Given the description of an element on the screen output the (x, y) to click on. 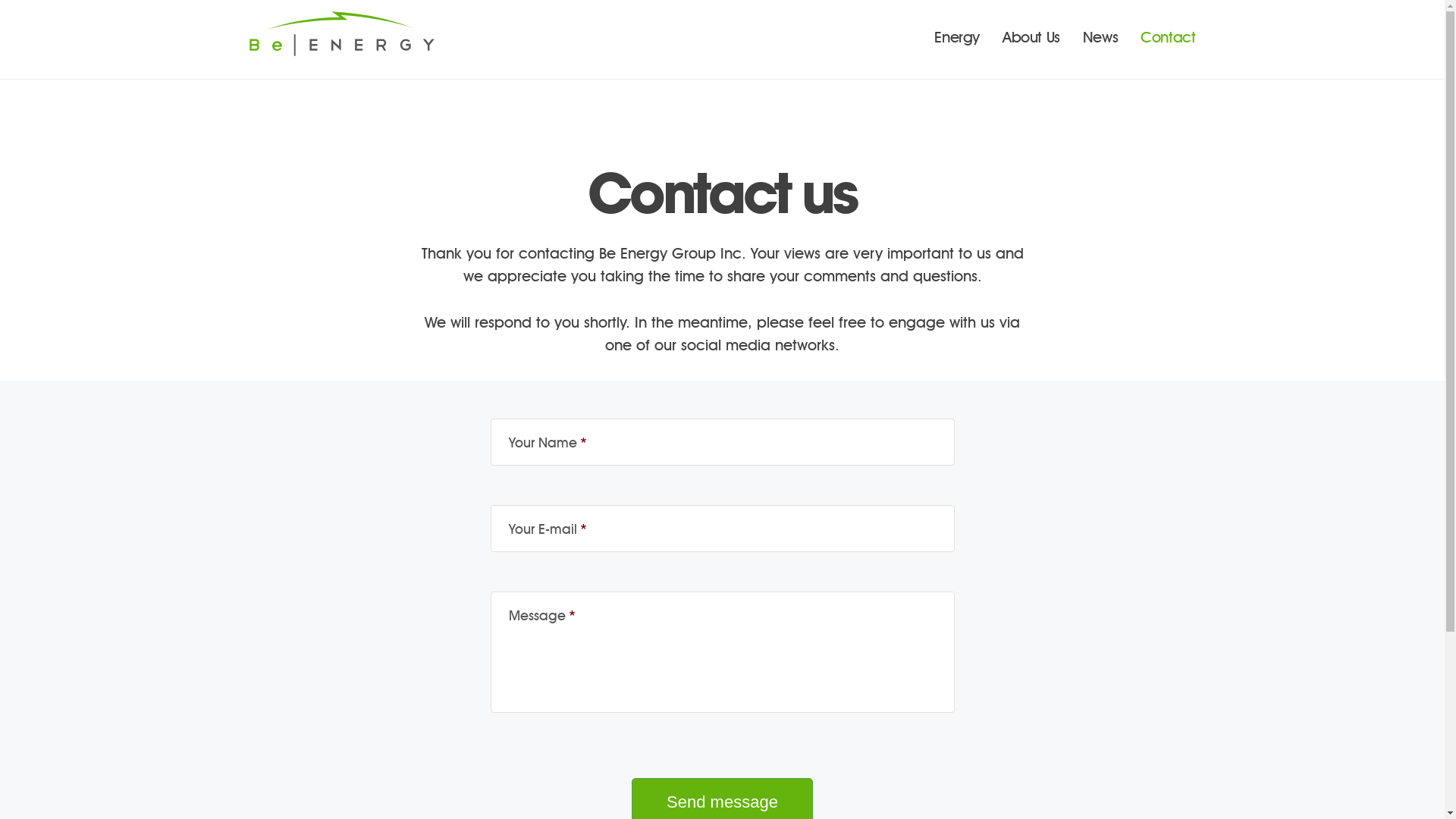
News Element type: text (1100, 37)
Contact Element type: text (1167, 37)
About Us Element type: text (1031, 37)
Energy Element type: text (956, 37)
